Given the description of an element on the screen output the (x, y) to click on. 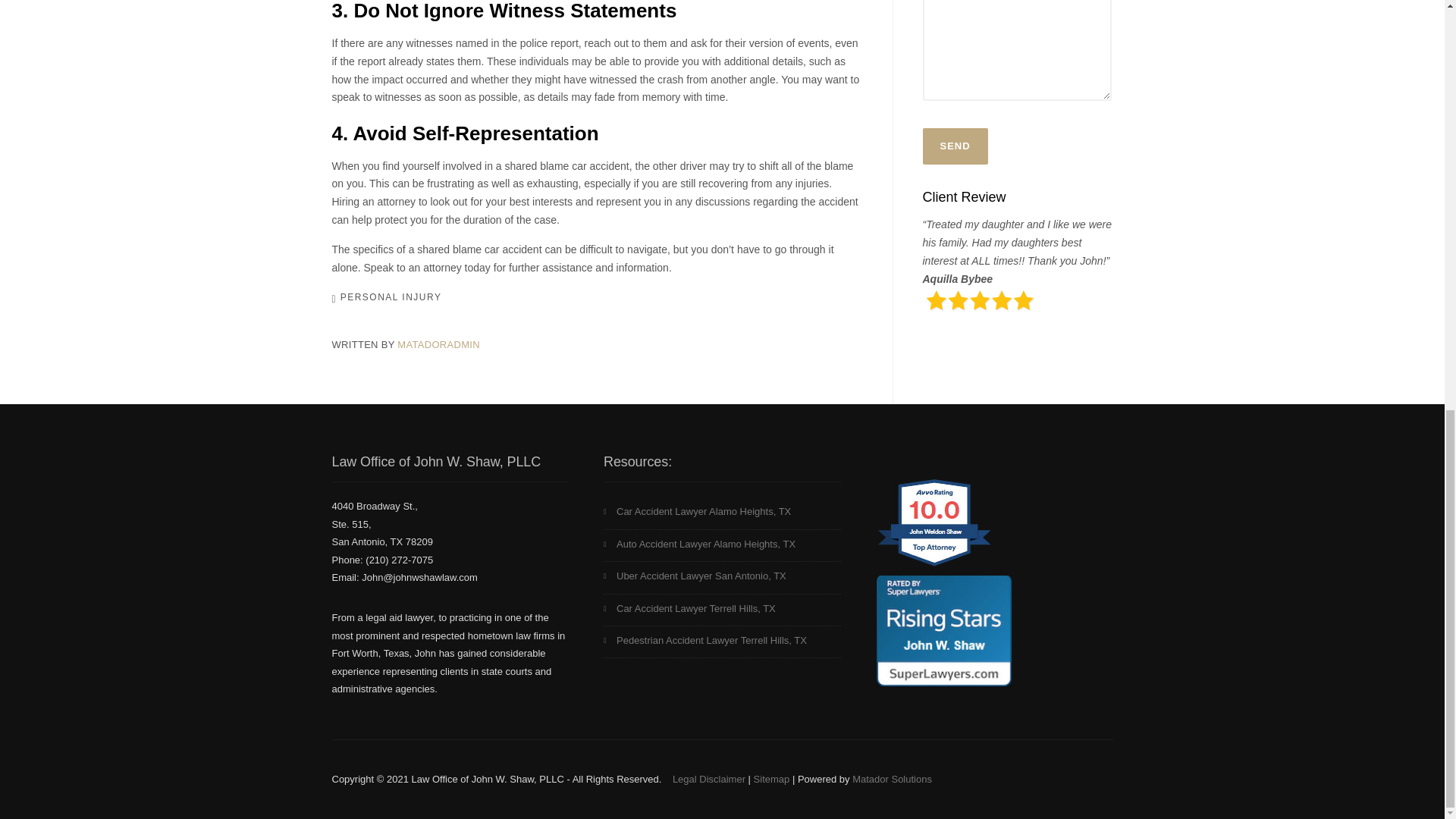
Legal Disclaimer (708, 778)
Matador Solutions (891, 778)
Pedestrian Accident Lawyer Terrell Hills, TX (722, 642)
Sitemap (772, 778)
Uber Accident Lawyer San Antonio, TX (722, 577)
Car Accident Lawyer Terrell Hills, TX (722, 610)
MATADORADMIN (438, 344)
Car Accident Lawyer Alamo Heights, TX (722, 513)
Send (954, 145)
Send (954, 145)
Auto Accident Lawyer Alamo Heights, TX (722, 545)
PERSONAL INJURY (391, 296)
